Given the description of an element on the screen output the (x, y) to click on. 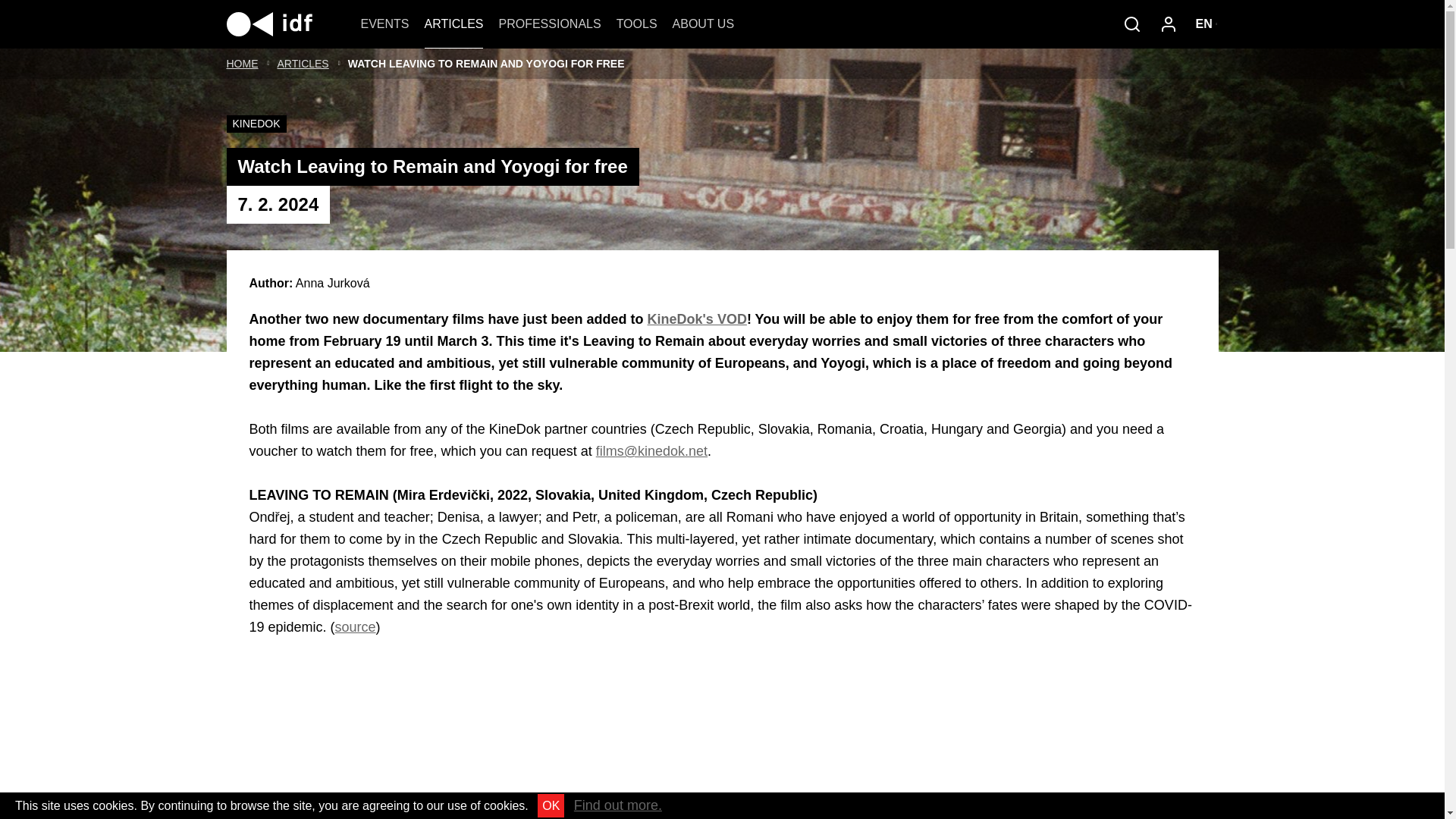
HOME (241, 63)
ABOUT US (703, 24)
TOOLS (636, 24)
EVENTS (385, 24)
PROFESSIONALS (548, 24)
ARTICLES (303, 63)
ARTICLES (454, 24)
OK (550, 805)
source (354, 626)
Find out more. (617, 805)
